Given the description of an element on the screen output the (x, y) to click on. 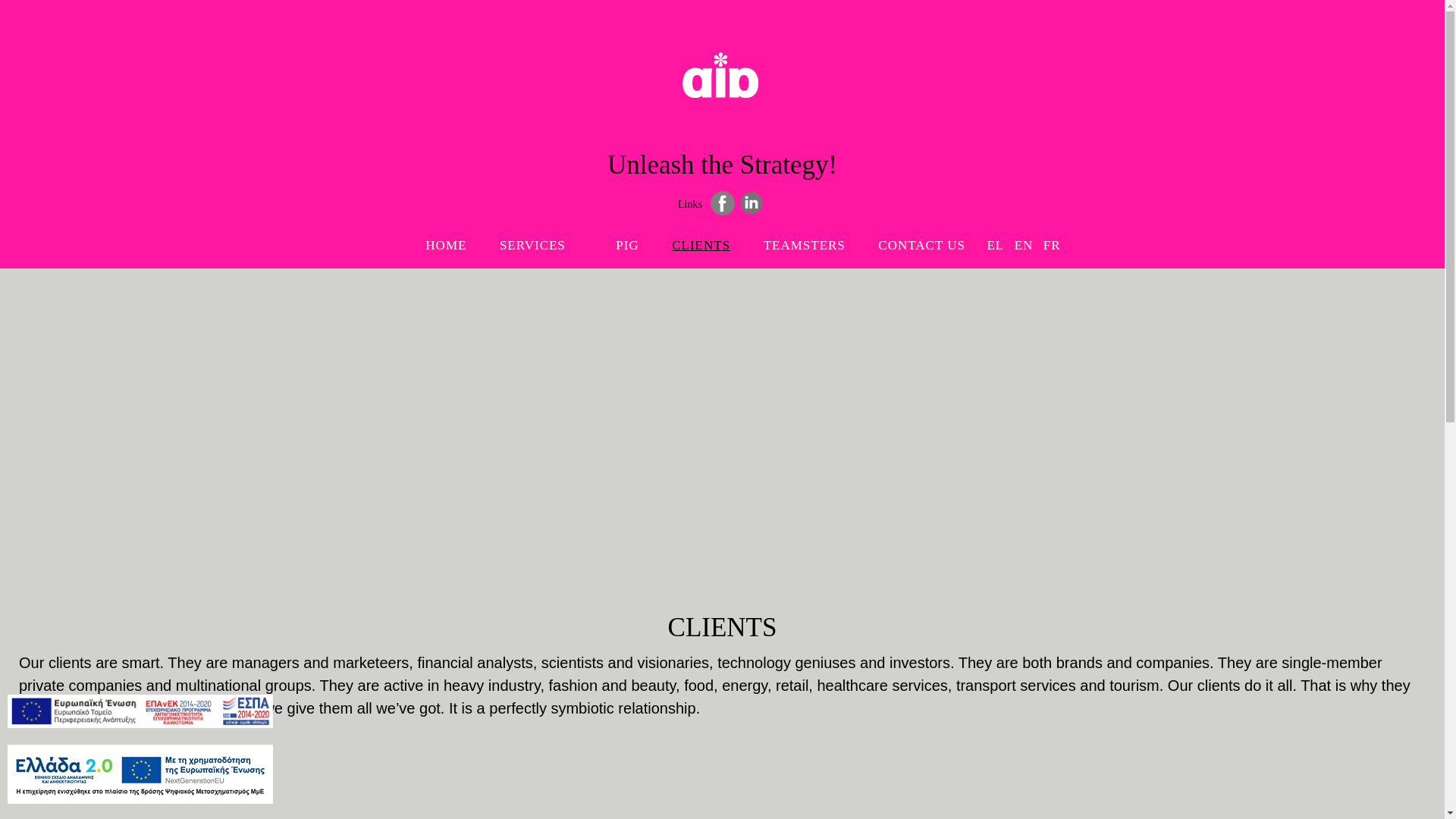
CLIENTS (700, 244)
TEAMSTERS (804, 244)
aea.gr (722, 94)
PIG (626, 244)
loading page-08 (722, 76)
HOME (445, 244)
SERVICES (722, 224)
CONTACT US (541, 244)
